Given the description of an element on the screen output the (x, y) to click on. 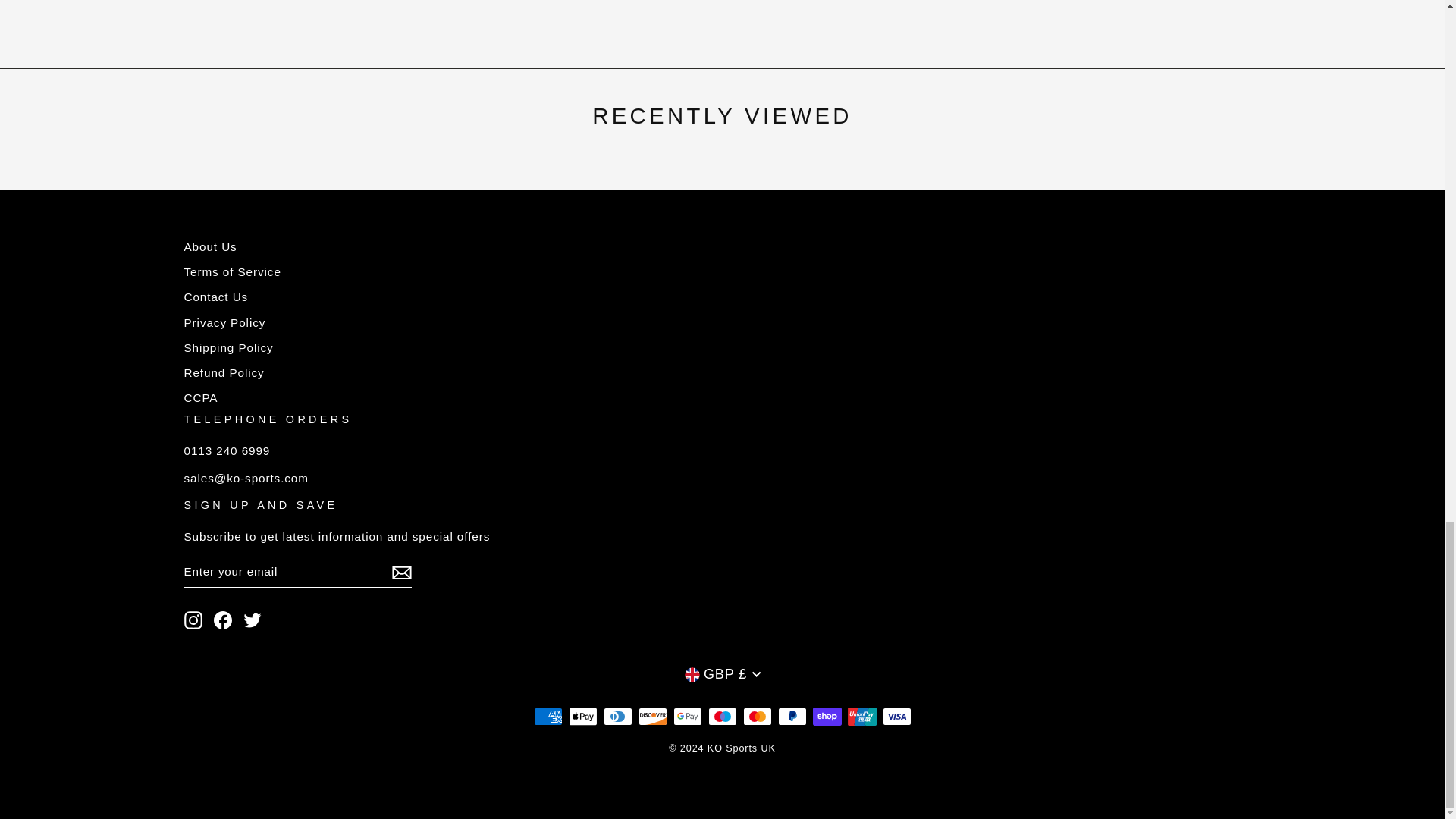
Apple Pay (582, 716)
Discover (652, 716)
KO Sports UK on Twitter (251, 619)
KO Sports UK on Facebook (222, 619)
Diners Club (617, 716)
American Express (548, 716)
Google Pay (686, 716)
KO Sports UK on Instagram (192, 619)
